Given the description of an element on the screen output the (x, y) to click on. 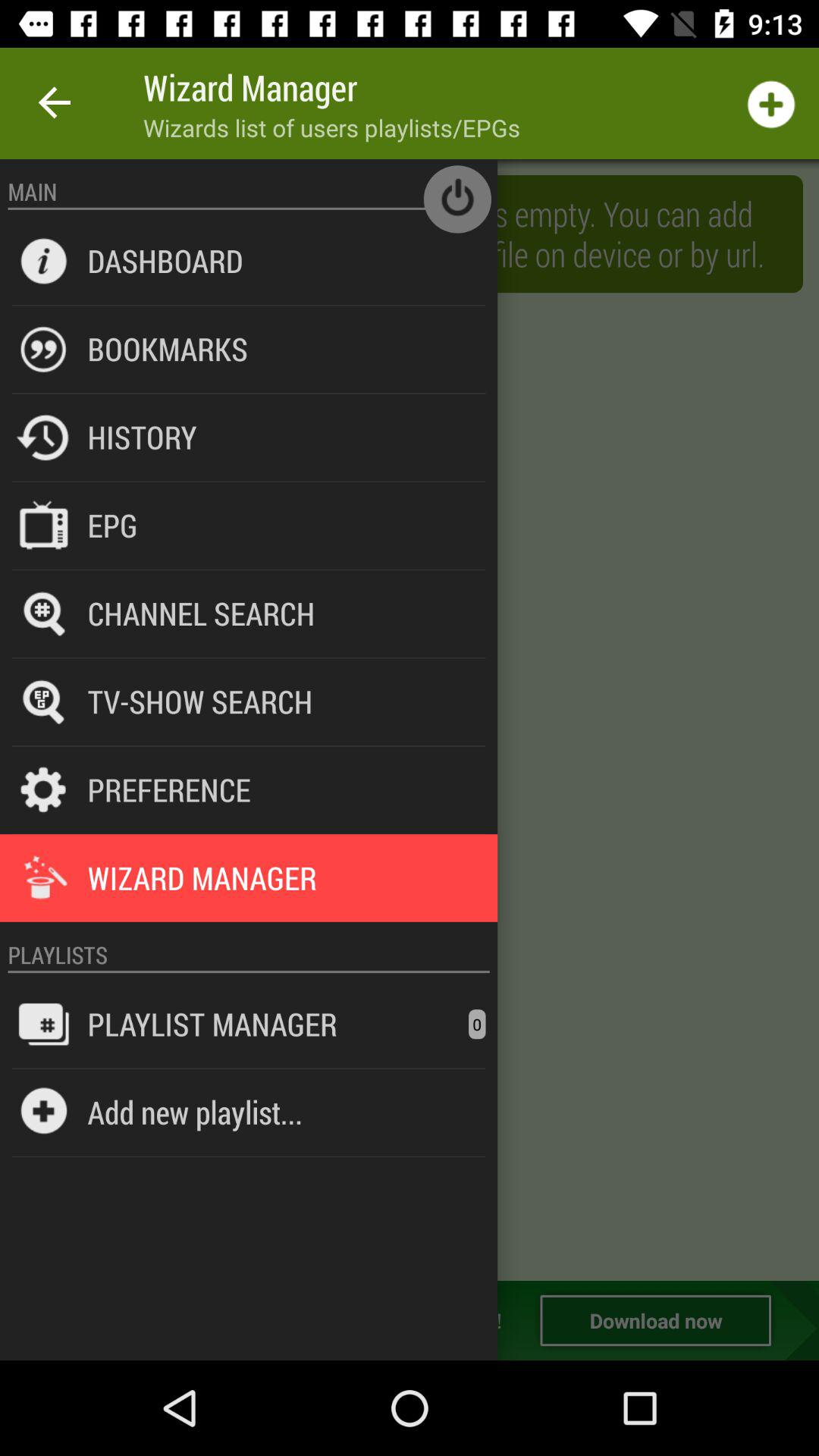
scroll to the playlist manager icon (212, 1023)
